Given the description of an element on the screen output the (x, y) to click on. 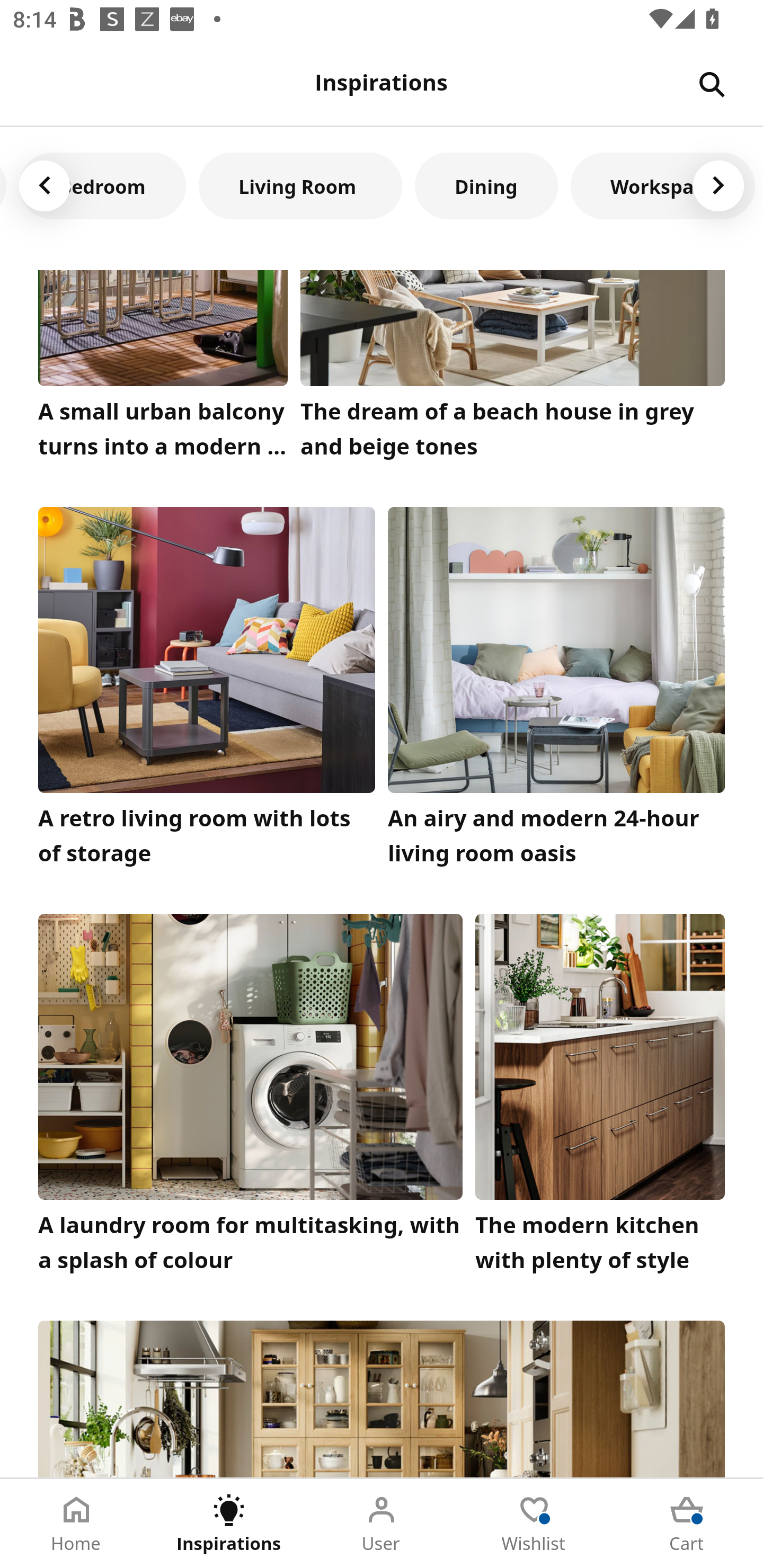
Living Room  (300, 185)
Dining (486, 185)
The dream of a beach house in grey and beige tones (512, 368)
A retro living room with lots of storage (206, 690)
An airy and modern 24-hour living room oasis (555, 690)
The modern kitchen with plenty of style (599, 1098)
Home
Tab 1 of 5 (76, 1522)
Inspirations
Tab 2 of 5 (228, 1522)
User
Tab 3 of 5 (381, 1522)
Wishlist
Tab 4 of 5 (533, 1522)
Cart
Tab 5 of 5 (686, 1522)
